Given the description of an element on the screen output the (x, y) to click on. 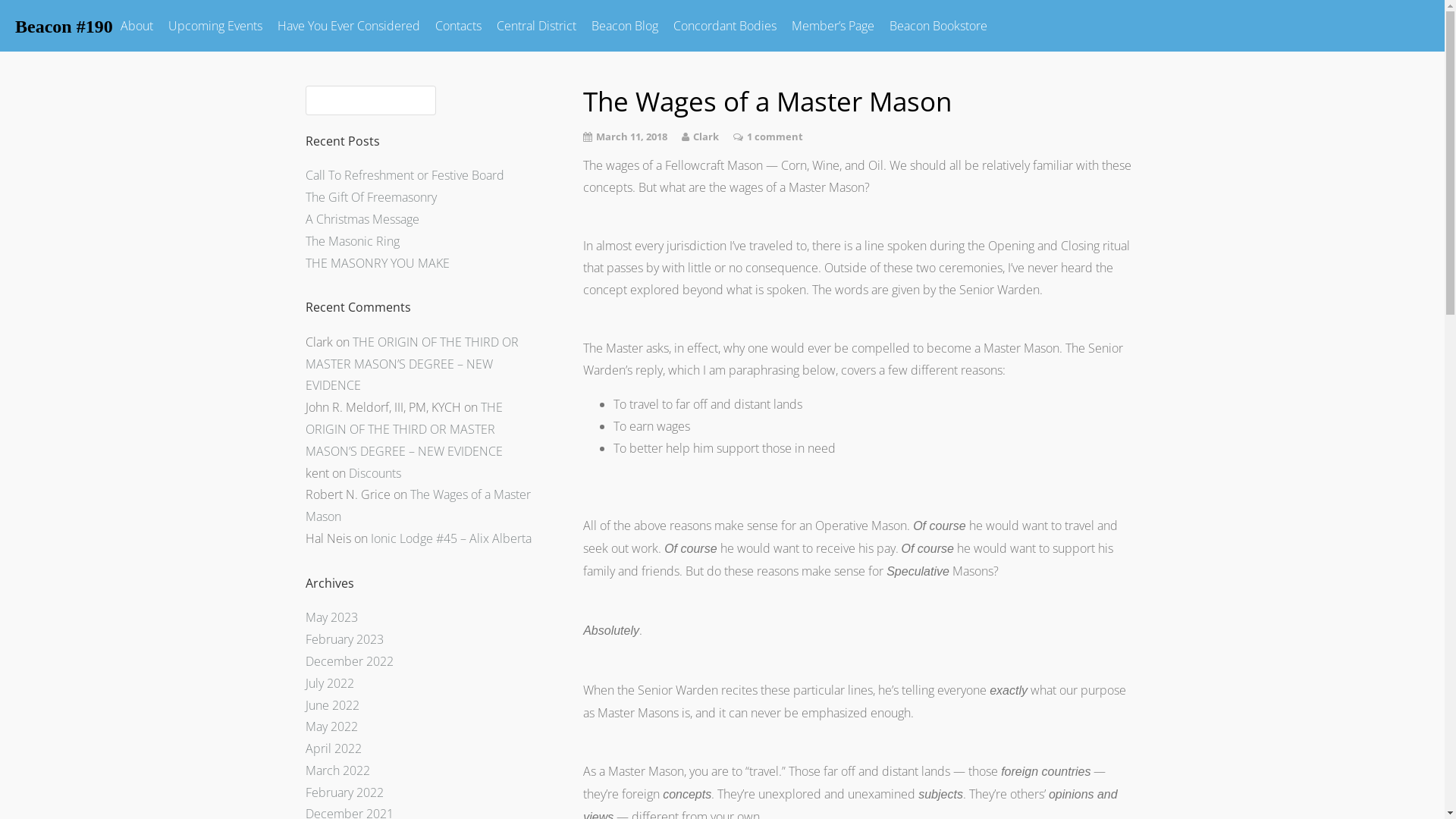
April 2022 Element type: text (332, 748)
Upcoming Events Element type: text (214, 25)
Search for: Element type: hover (369, 100)
The Gift Of Freemasonry Element type: text (370, 196)
February 2022 Element type: text (343, 792)
The Masonic Ring Element type: text (351, 240)
Search Element type: text (32, 15)
Contacts Element type: text (458, 25)
The Wages of a Master Mason Element type: text (417, 505)
June 2022 Element type: text (331, 704)
Beacon #190 Element type: text (63, 26)
Beacon Bookstore Element type: text (937, 25)
Central District Element type: text (536, 25)
THE MASONRY YOU MAKE Element type: text (376, 262)
About Element type: text (136, 25)
A Christmas Message Element type: text (361, 218)
Concordant Bodies Element type: text (724, 25)
March 2022 Element type: text (336, 770)
May 2023 Element type: text (330, 616)
1 comment Element type: text (774, 136)
July 2022 Element type: text (328, 682)
Discounts Element type: text (374, 472)
Have You Ever Considered Element type: text (348, 25)
May 2022 Element type: text (330, 726)
Call To Refreshment or Festive Board Element type: text (403, 174)
February 2023 Element type: text (343, 638)
Beacon Blog Element type: text (624, 25)
December 2022 Element type: text (348, 660)
